Given the description of an element on the screen output the (x, y) to click on. 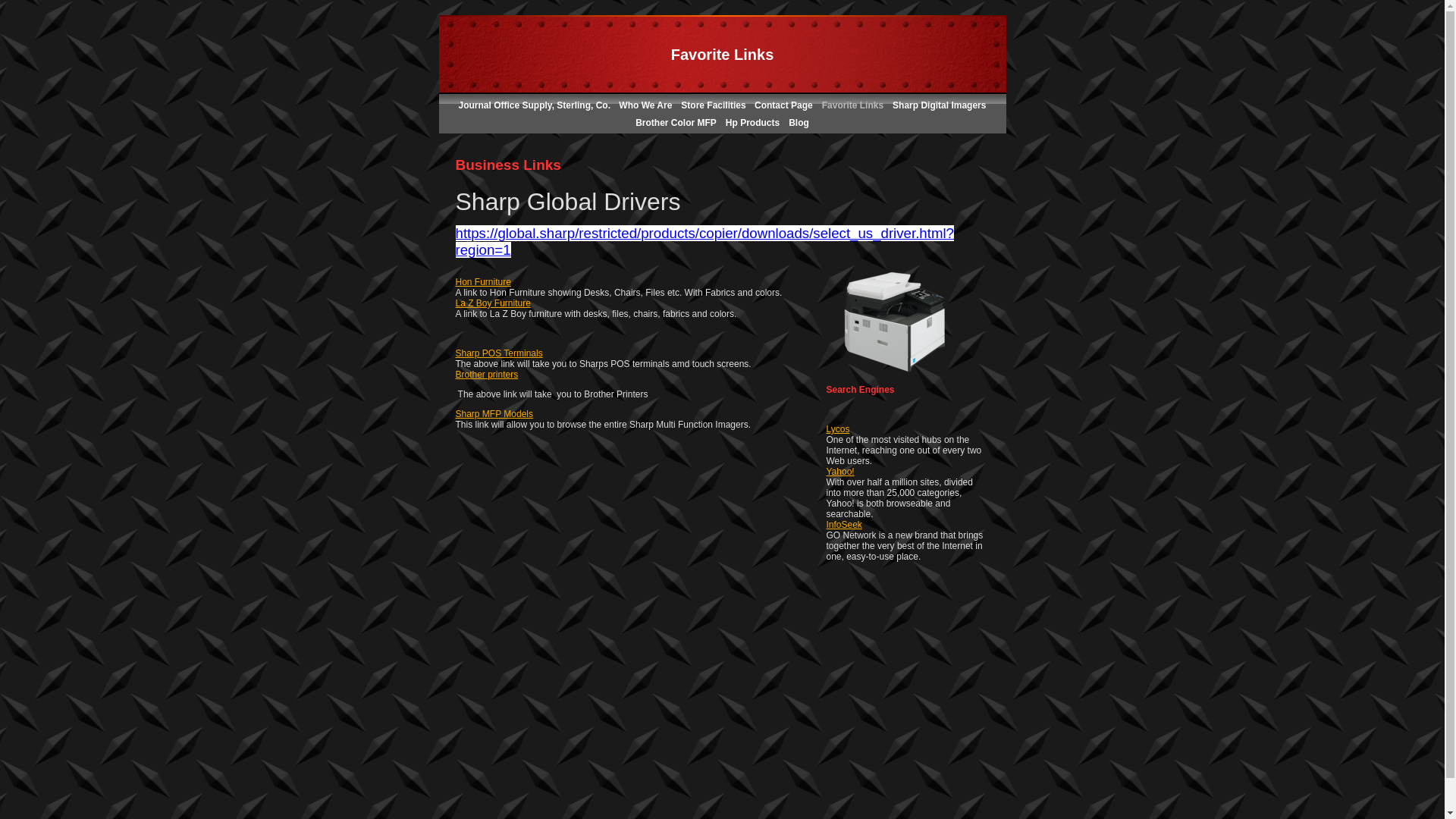
Contact Page (783, 104)
Sharp POS Terminals (497, 353)
Brother printers (486, 374)
La Z Boy Furniture (491, 303)
Sharp MFP Models (493, 413)
Lycos (838, 429)
Favorite Links (852, 104)
Sharp Digital Imagers (938, 104)
Journal Office Supply, Sterling, Co. (535, 104)
Hon Furniture (482, 281)
Brother Color MFP (675, 122)
Yahoo! (840, 471)
Blog (799, 122)
Store Facilities (714, 104)
InfoSeek (844, 524)
